Given the description of an element on the screen output the (x, y) to click on. 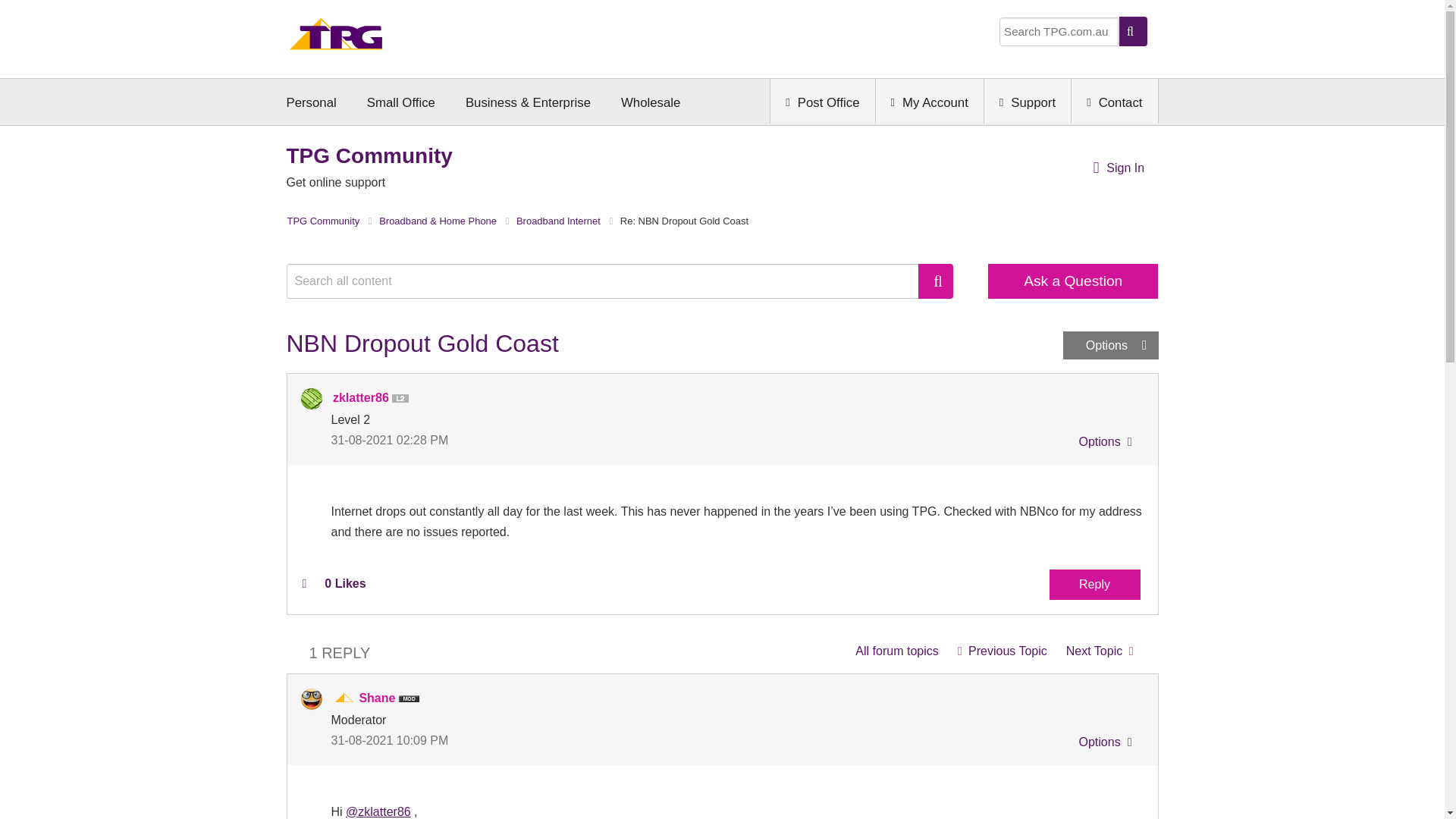
The total number of kudos this post has received. (344, 583)
waiting to be automatically configured (1099, 650)
Search (610, 280)
Show option menu (1103, 443)
Moderator (344, 698)
Posted on (526, 439)
Shane (310, 699)
Search (935, 280)
Show option menu (1110, 345)
Home (335, 38)
Level 2 (402, 398)
zklatter86 (310, 398)
Broadband Internet (896, 650)
NBN FTTC SL Bundle Fast upgrade (1002, 650)
Search (935, 280)
